Given the description of an element on the screen output the (x, y) to click on. 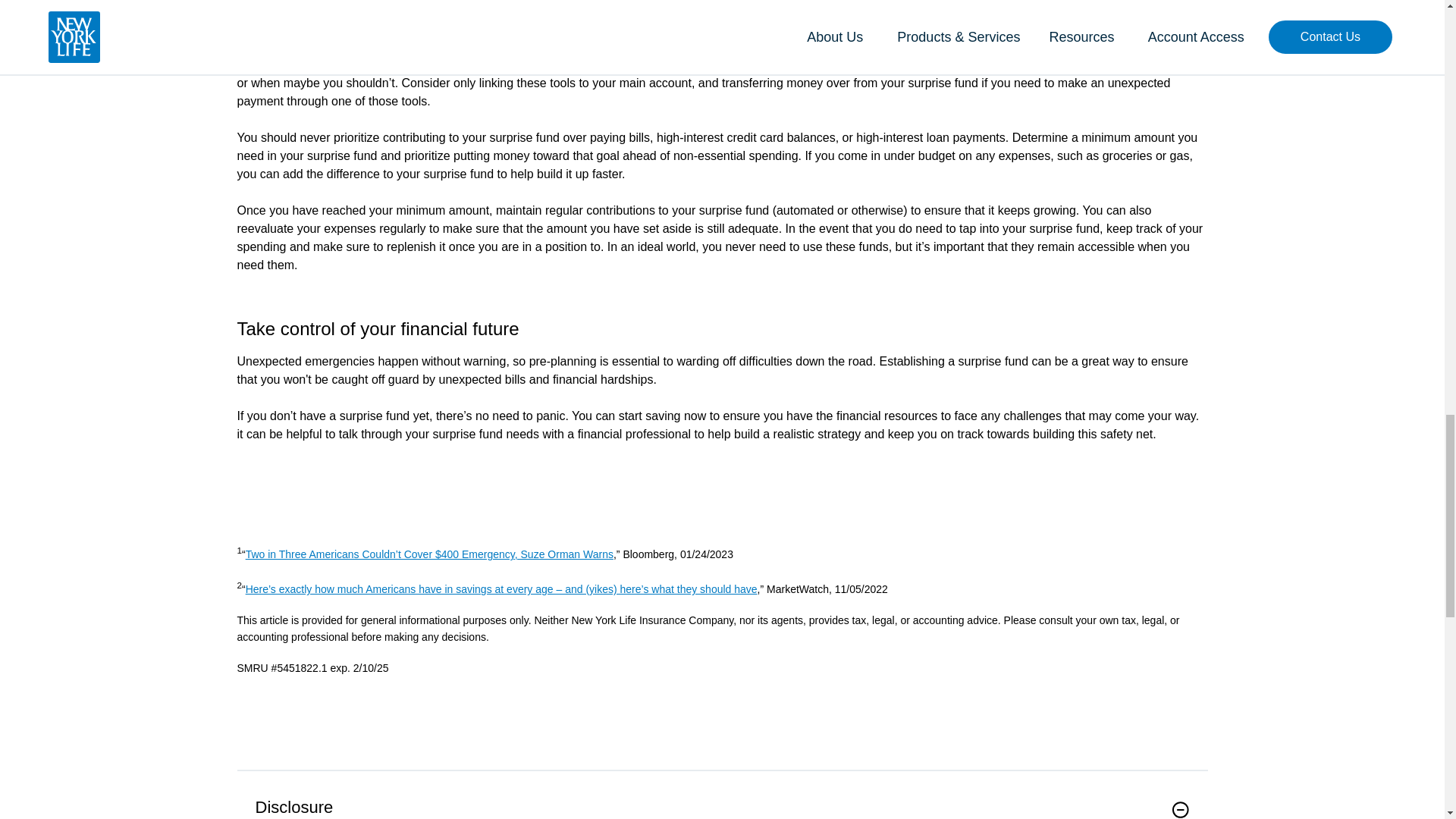
circle-minus (1180, 809)
